Given the description of an element on the screen output the (x, y) to click on. 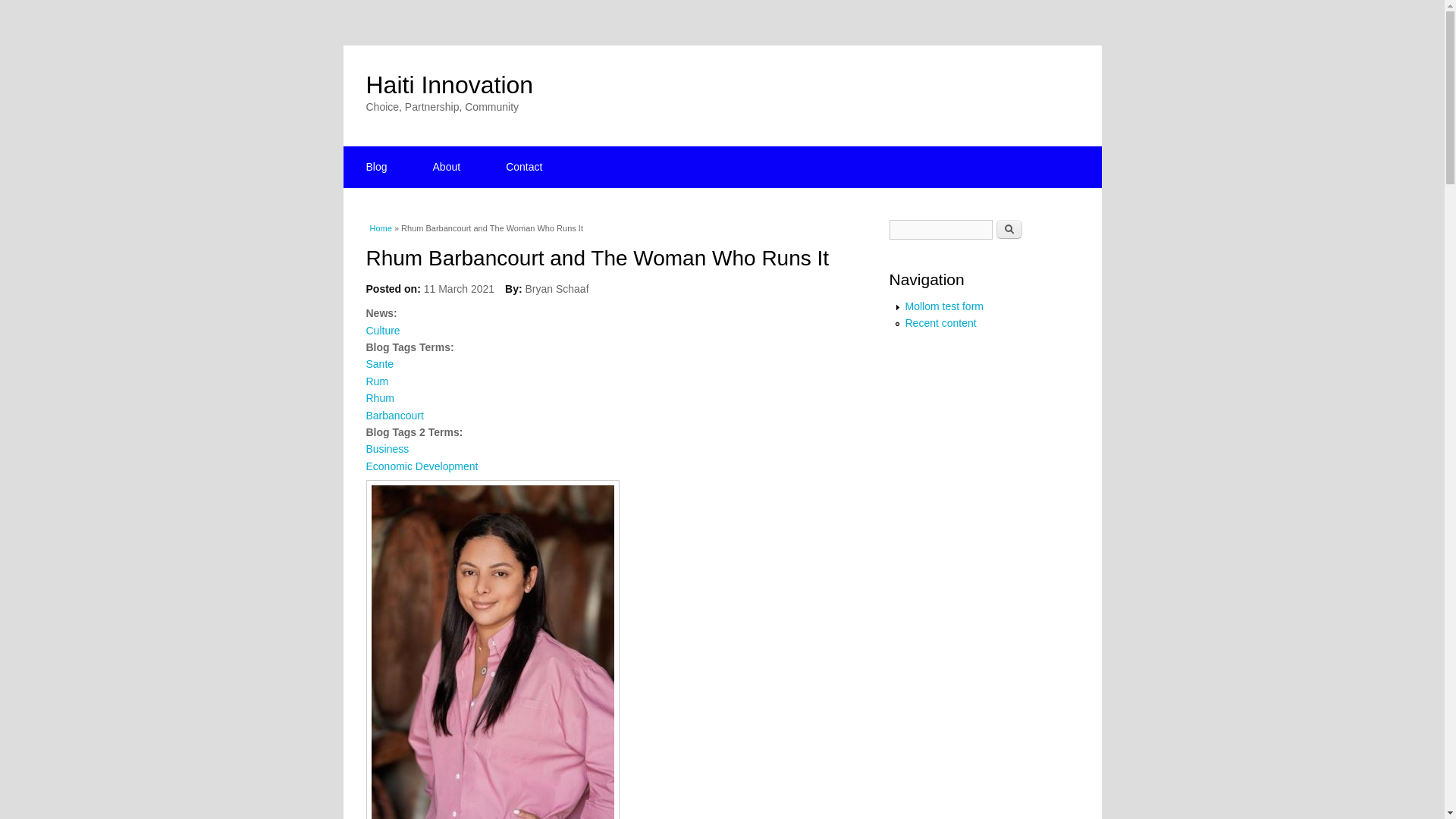
Home (448, 84)
Blog (375, 167)
Haiti Innovation (448, 84)
Rum (376, 381)
About Haiti Innovation (446, 167)
Culture (381, 330)
About (446, 167)
Search (1008, 229)
Barbancourt (394, 415)
Contact (523, 167)
